Given the description of an element on the screen output the (x, y) to click on. 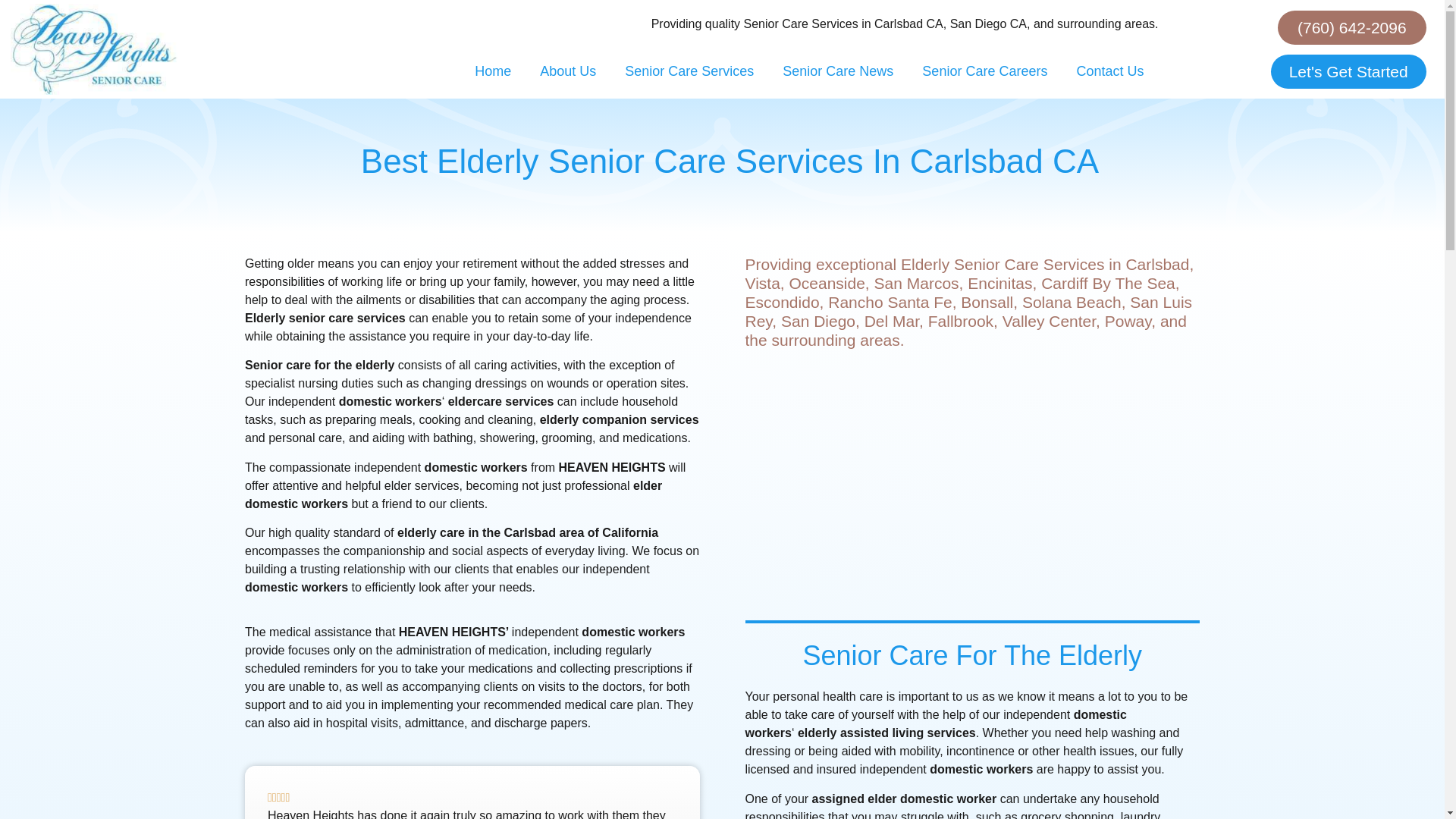
Home (492, 70)
About Us (567, 70)
Senior Care News (837, 70)
Let's Get Started (1348, 71)
Contact Us (1109, 70)
Senior Care Services (689, 70)
Senior Care Careers (984, 70)
